Given the description of an element on the screen output the (x, y) to click on. 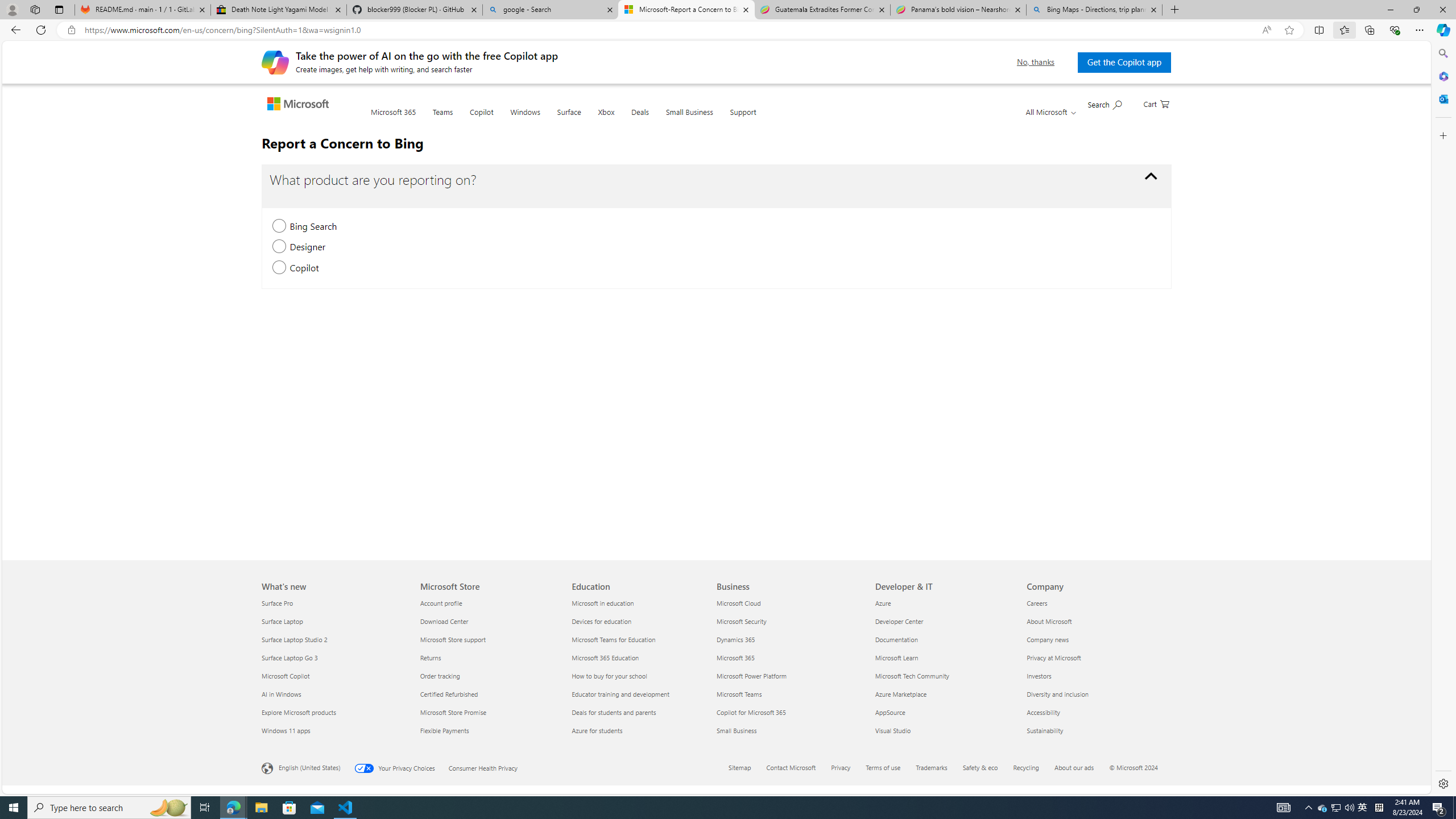
Explore Microsoft products What's new (299, 711)
Microsoft Copilot What's new (286, 675)
Surface Laptop Studio 2 What's new (294, 638)
Download Center (489, 620)
Copilot, new section will be expanded (279, 268)
App bar (728, 29)
Small Business Business (736, 729)
Investors (1095, 675)
Deals for students and parents (641, 711)
Documentation Developer & IT (896, 638)
